Given the description of an element on the screen output the (x, y) to click on. 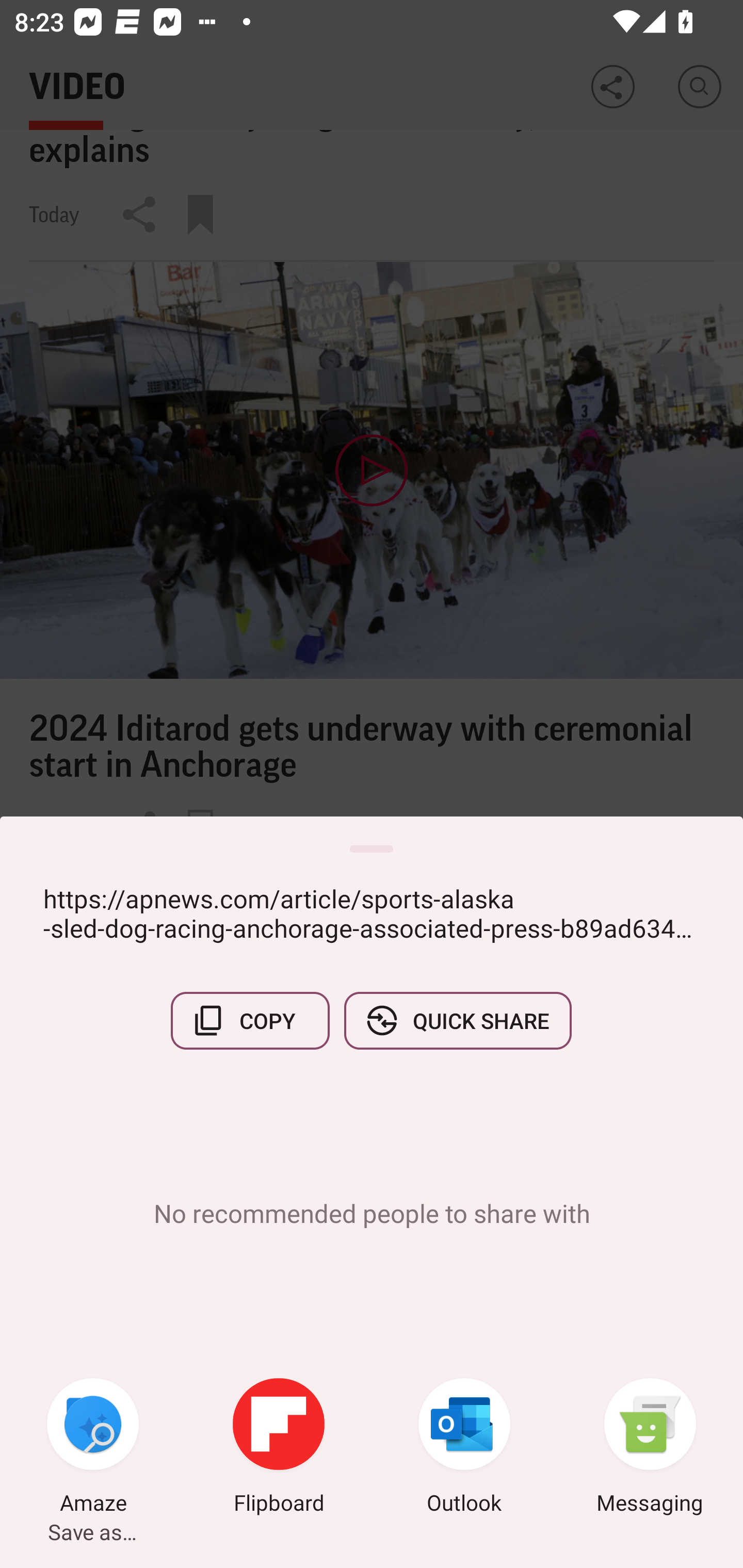
COPY (249, 1020)
QUICK SHARE (457, 1020)
Amaze Save as… (92, 1448)
Flipboard (278, 1448)
Outlook (464, 1448)
Messaging (650, 1448)
